Given the description of an element on the screen output the (x, y) to click on. 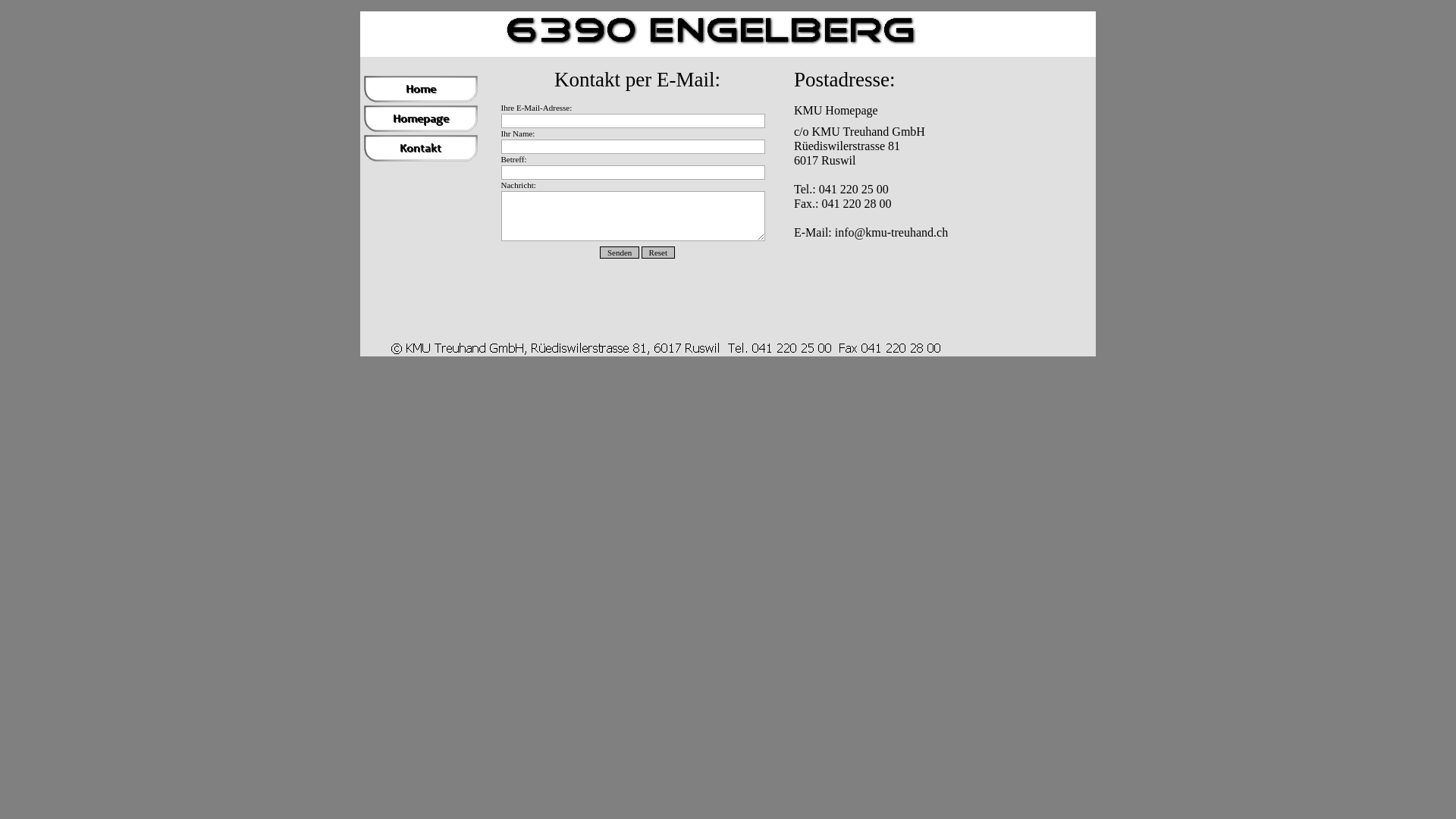
 Senden  Element type: text (619, 252)
